Given the description of an element on the screen output the (x, y) to click on. 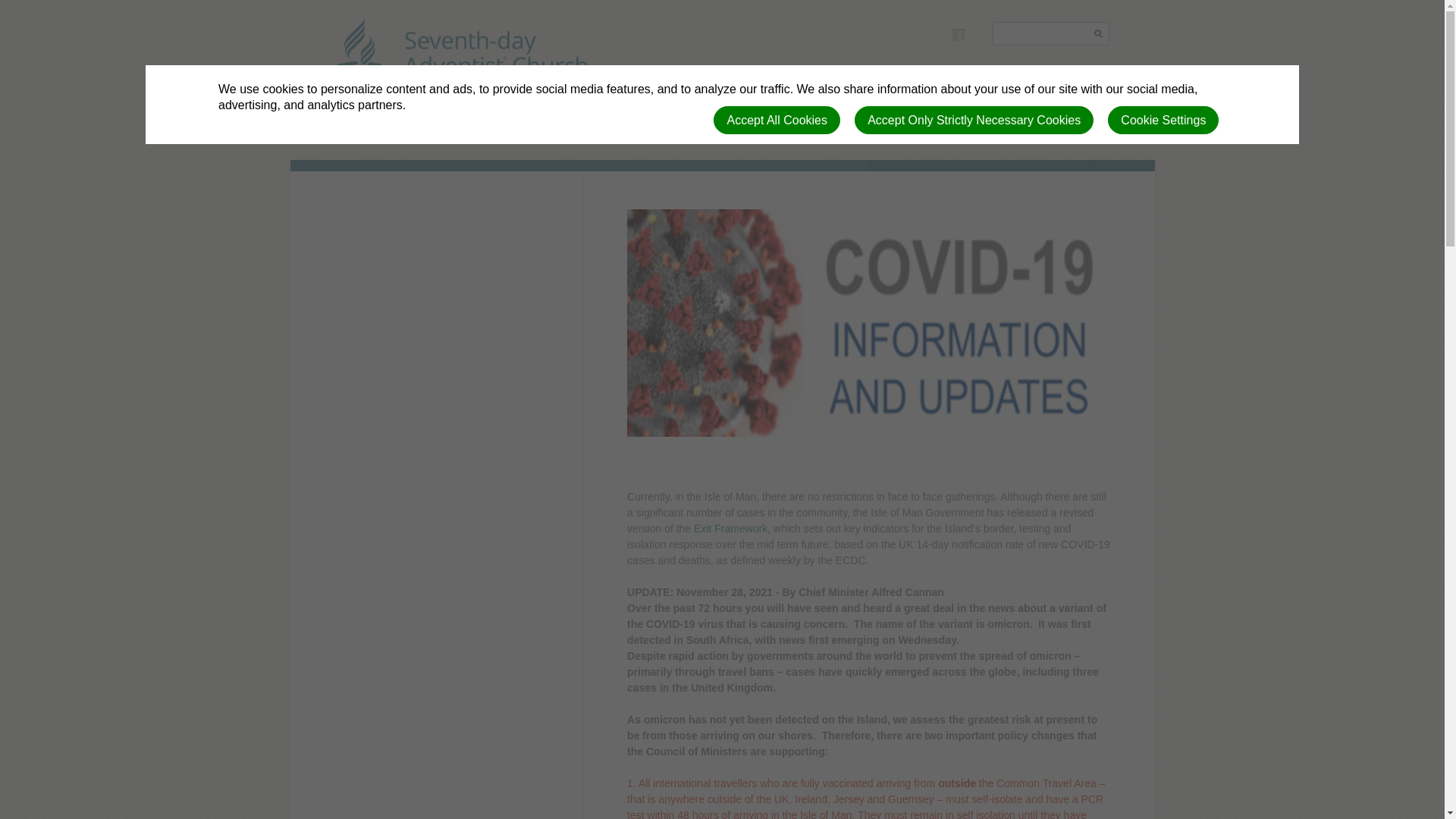
Cookie Settings (1163, 120)
Home (350, 135)
Beliefs (692, 135)
Departments (851, 135)
Calendar (764, 135)
Exit Framework (730, 528)
Events - Isle of Man (449, 135)
Contact Us (943, 135)
Accept All Cookies (776, 120)
